Given the description of an element on the screen output the (x, y) to click on. 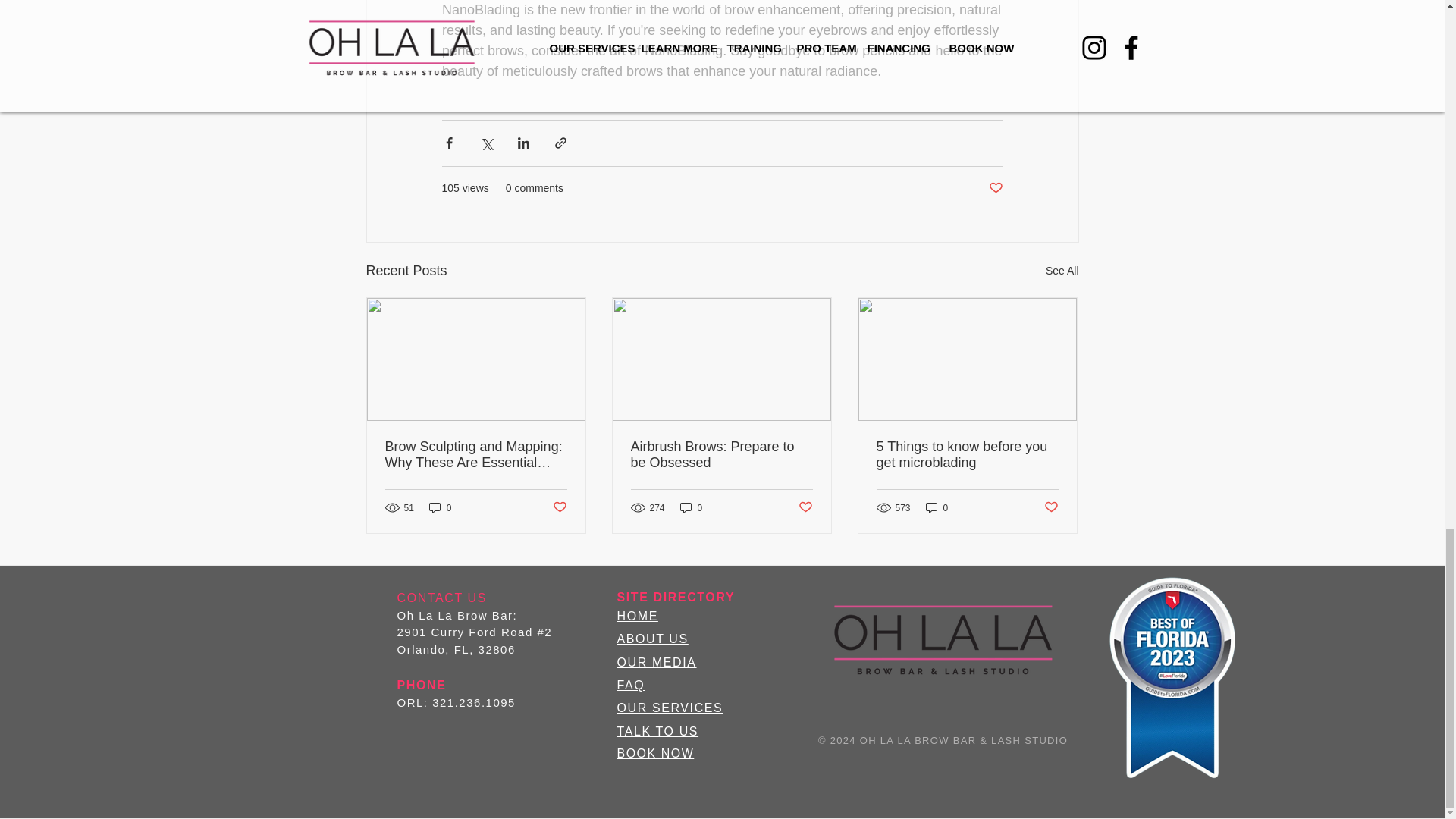
Post not marked as liked (558, 507)
See All (1061, 270)
0 (440, 507)
Post not marked as liked (995, 188)
Airbrush Brows: Prepare to be Obsessed (721, 454)
